Given the description of an element on the screen output the (x, y) to click on. 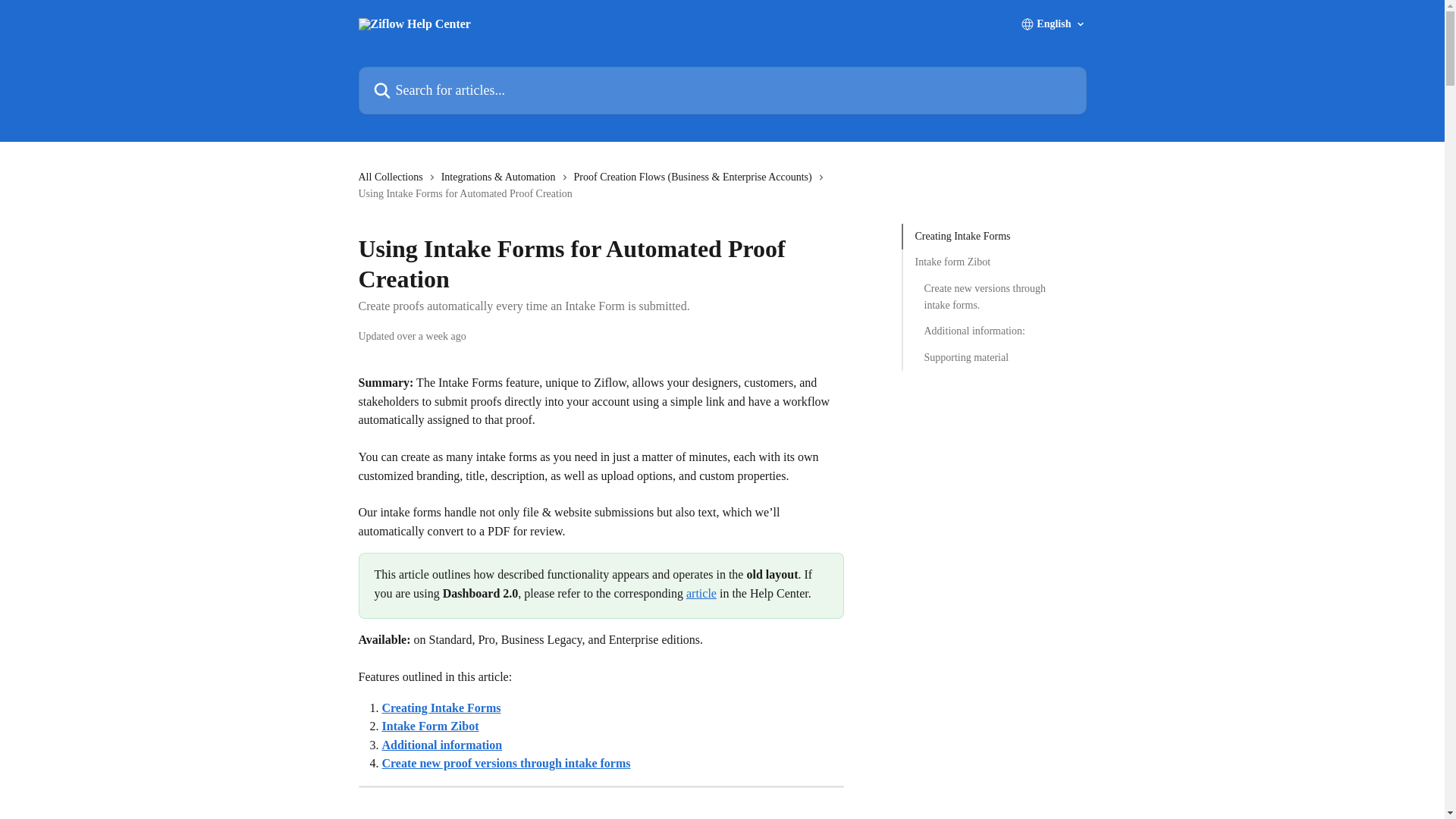
article (700, 593)
Additional information (441, 744)
Additional information: (993, 330)
Create new proof versions through intake forms (505, 762)
Create new versions through intake forms. (993, 297)
Supporting material (993, 357)
Creating Intake Forms (440, 707)
All Collections (393, 176)
Intake form Zibot (994, 262)
Creating Intake Forms (994, 236)
Intake Form Zibot (430, 725)
